Given the description of an element on the screen output the (x, y) to click on. 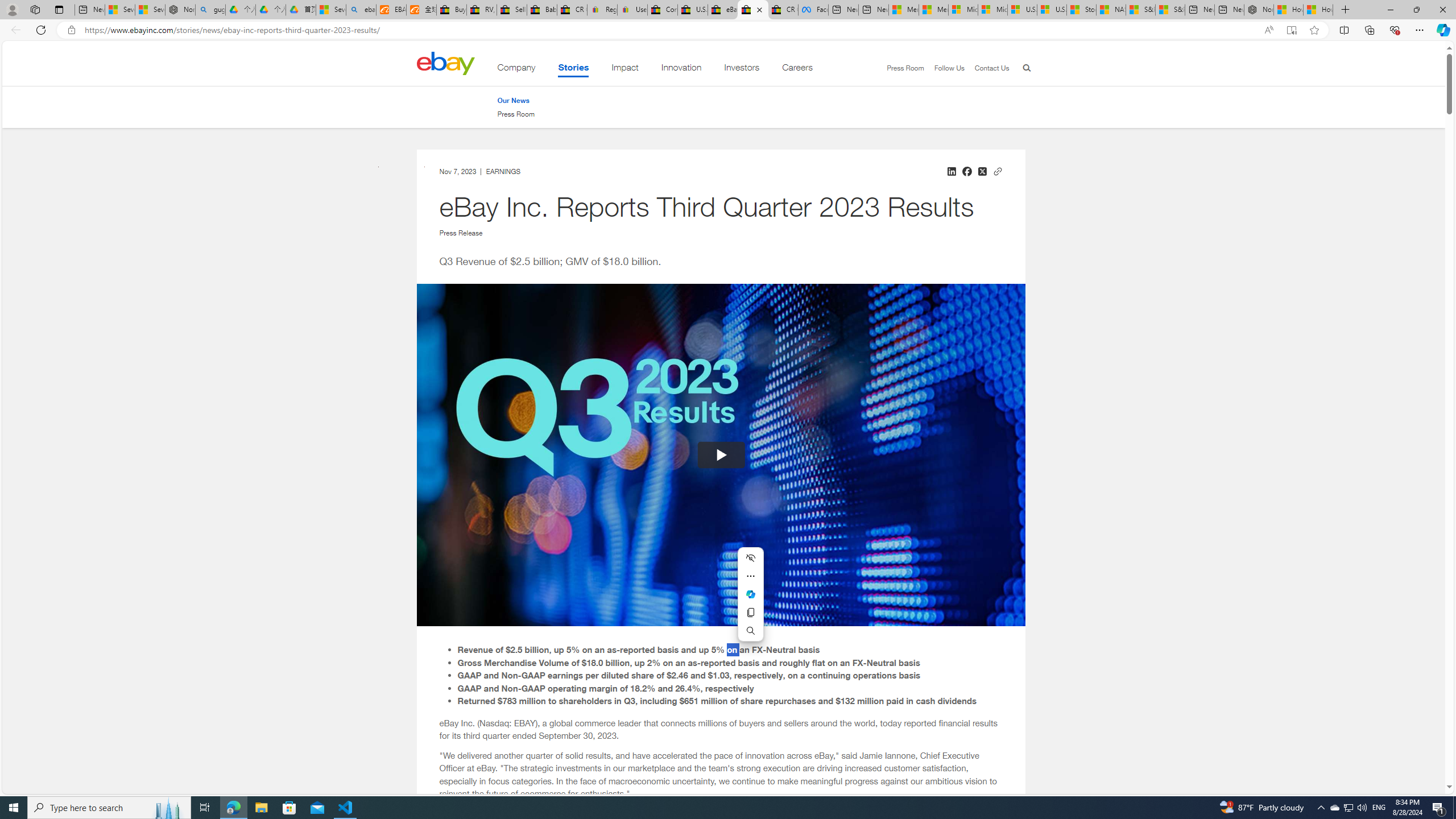
Impact (625, 69)
guge yunpan - Search (210, 9)
